Given the description of an element on the screen output the (x, y) to click on. 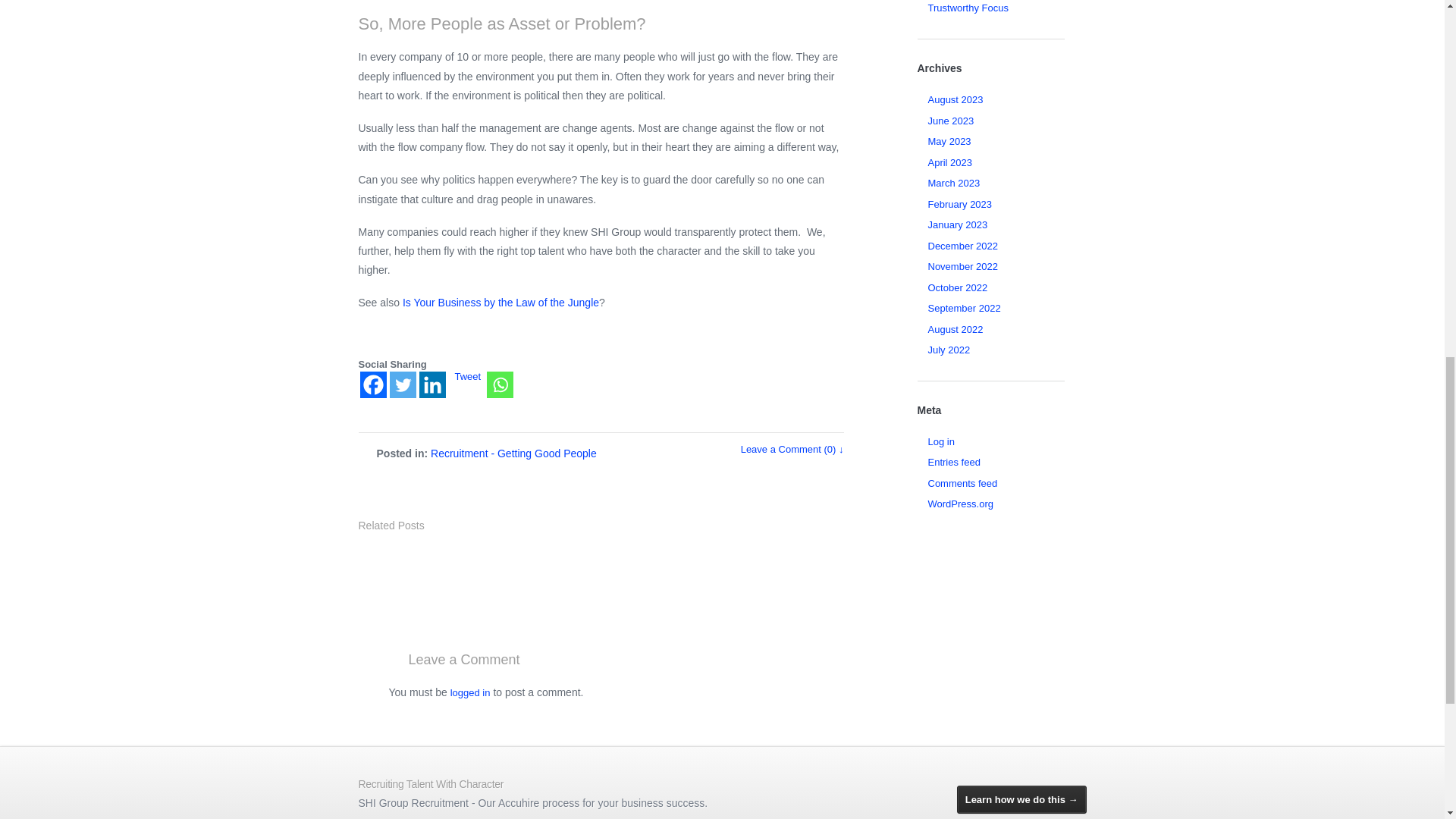
Whatsapp (499, 384)
Tweet (467, 376)
Is Your Business by the Law of the Jungle (500, 302)
Facebook (372, 384)
Recruitment - Getting Good People (513, 453)
Twitter (403, 384)
Linkedin (432, 384)
logged in (469, 692)
